Given the description of an element on the screen output the (x, y) to click on. 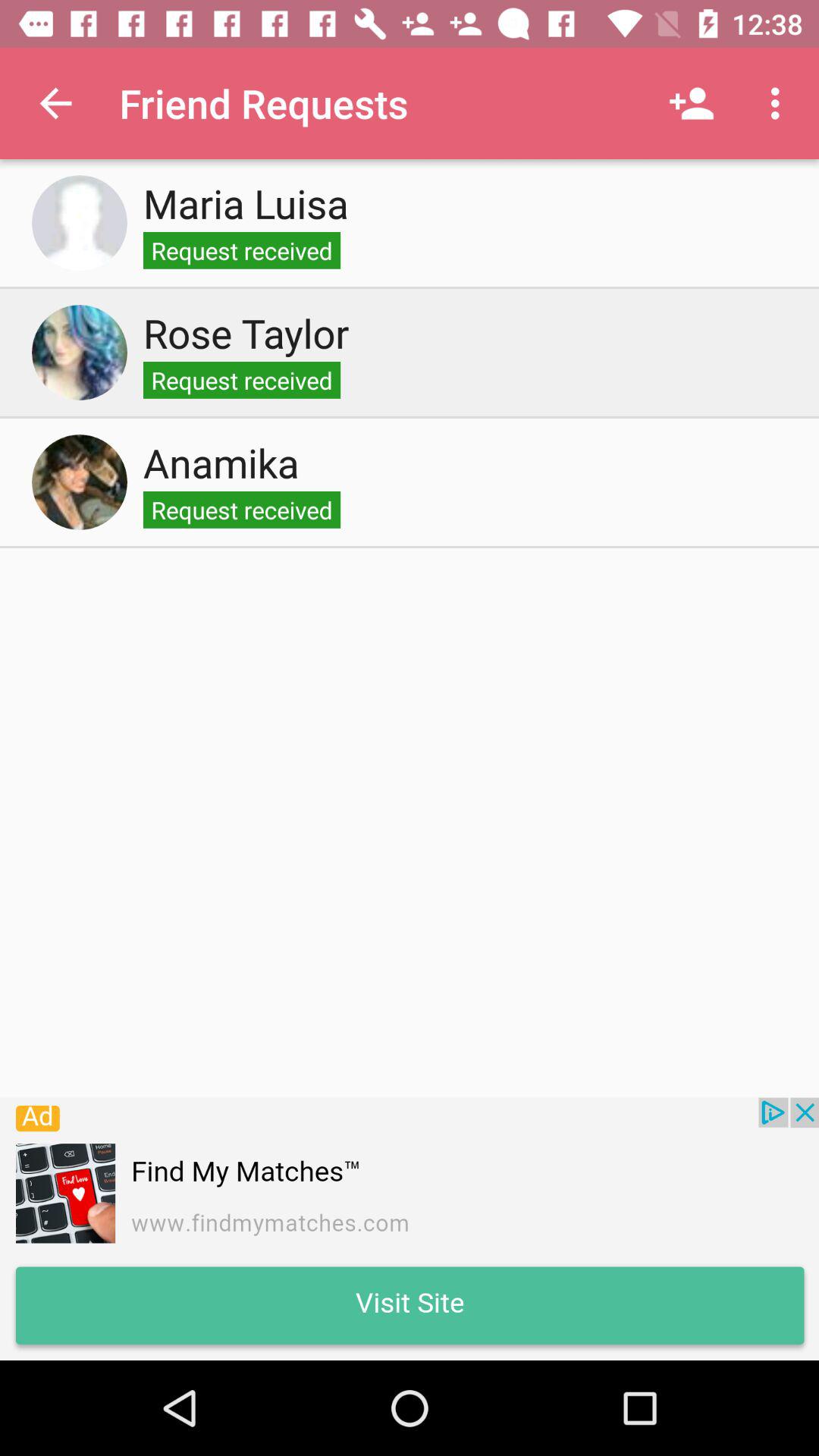
see profile (79, 482)
